Given the description of an element on the screen output the (x, y) to click on. 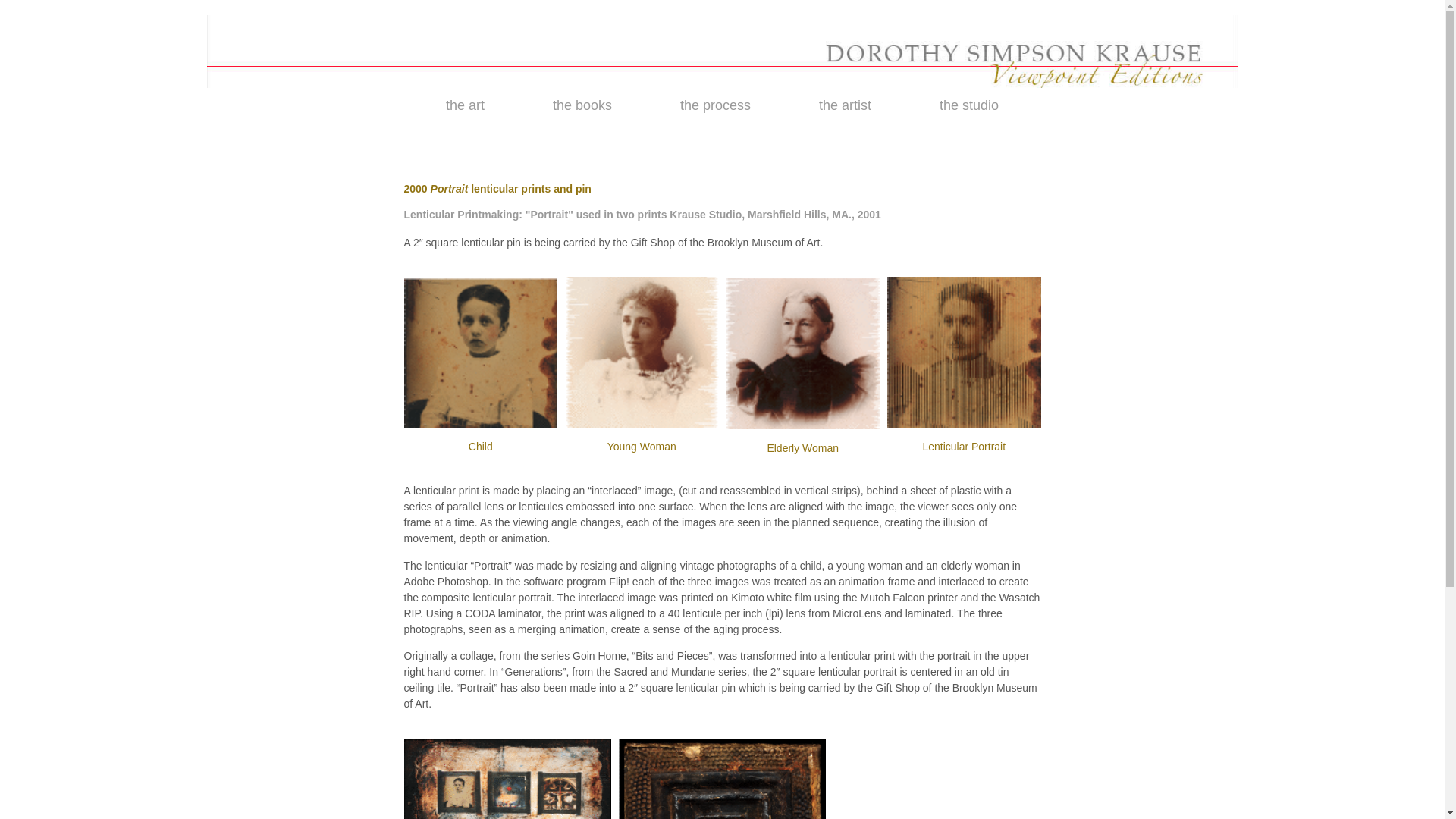
the books (582, 104)
the process (715, 104)
the artist (844, 104)
the studio (968, 104)
the art (465, 104)
